Given the description of an element on the screen output the (x, y) to click on. 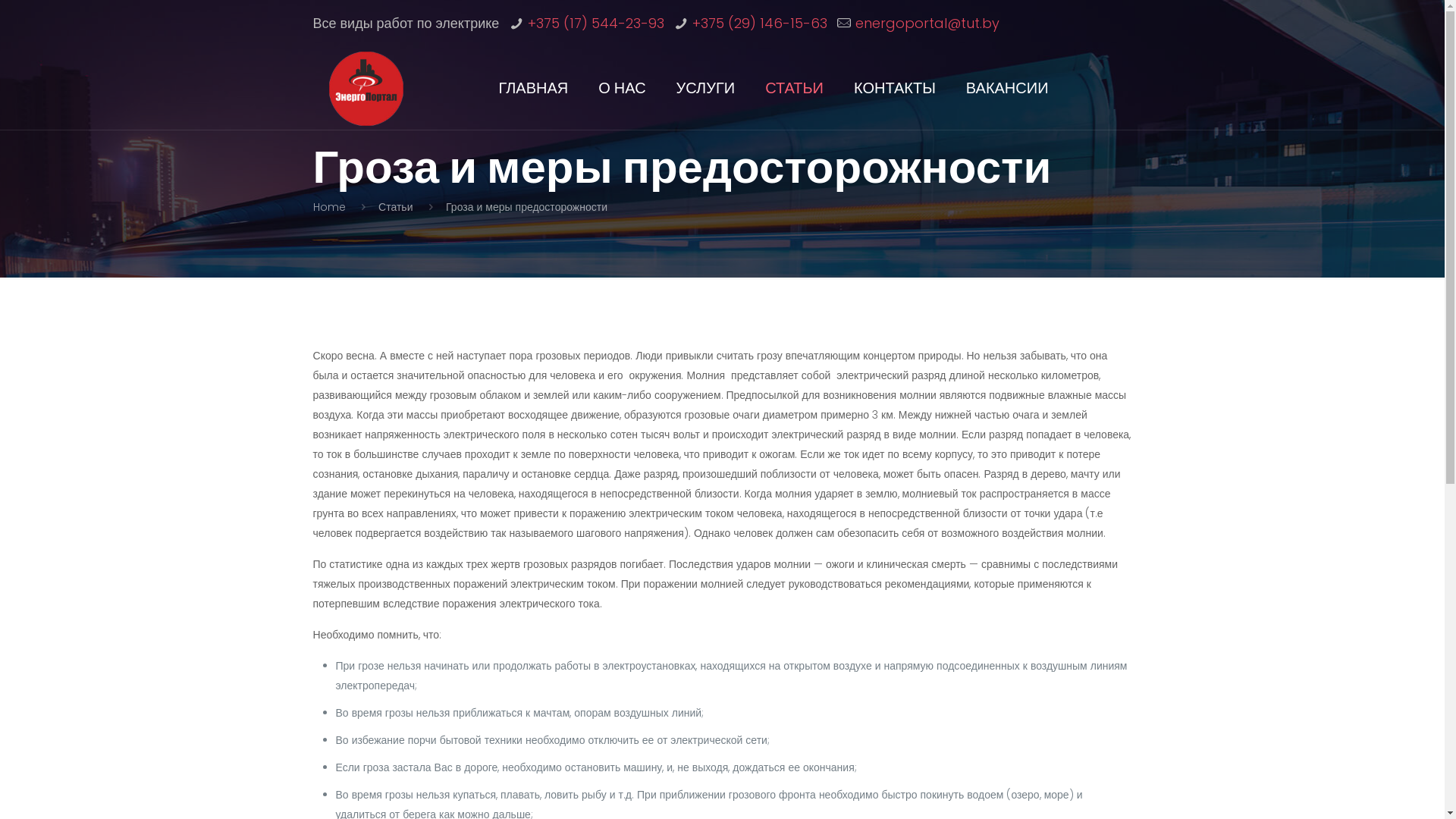
energoportal@tut.by Element type: text (927, 22)
Home Element type: text (329, 206)
+375 (17) 544-23-93 Element type: text (595, 22)
+375 (29) 146-15-63 Element type: text (759, 22)
